Given the description of an element on the screen output the (x, y) to click on. 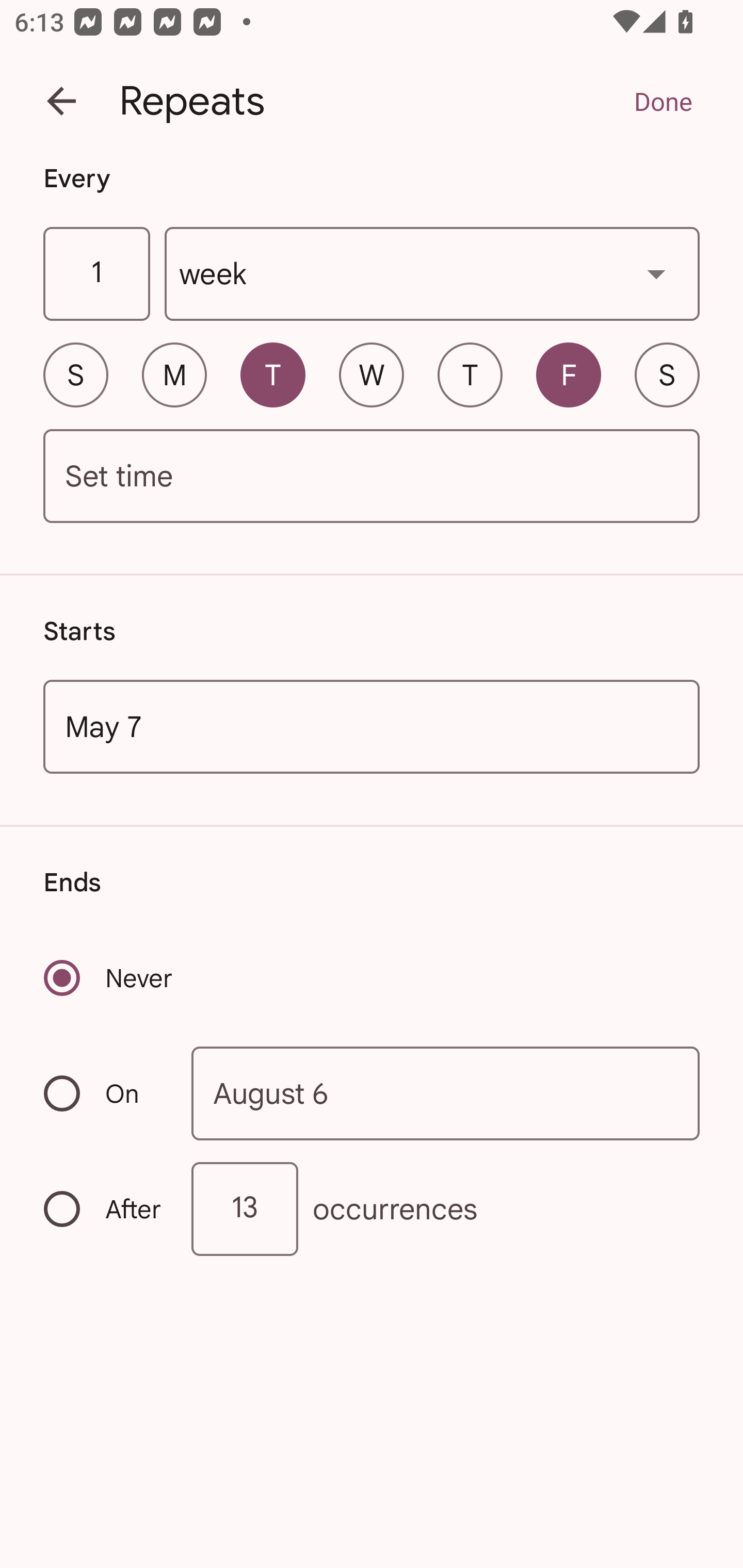
Back (61, 101)
Done (663, 101)
1 (96, 274)
week (431, 274)
Show dropdown menu (655, 273)
S Sunday (75, 374)
M Monday (173, 374)
T Tuesday, selected (272, 374)
W Wednesday (371, 374)
T Thursday (469, 374)
F Friday, selected (568, 374)
S Saturday (666, 374)
Set time (371, 476)
May 7 (371, 726)
Never Recurrence never ends (109, 978)
August 6 (445, 1092)
On Recurrence ends on a specific date (104, 1093)
13 (244, 1208)
